Given the description of an element on the screen output the (x, y) to click on. 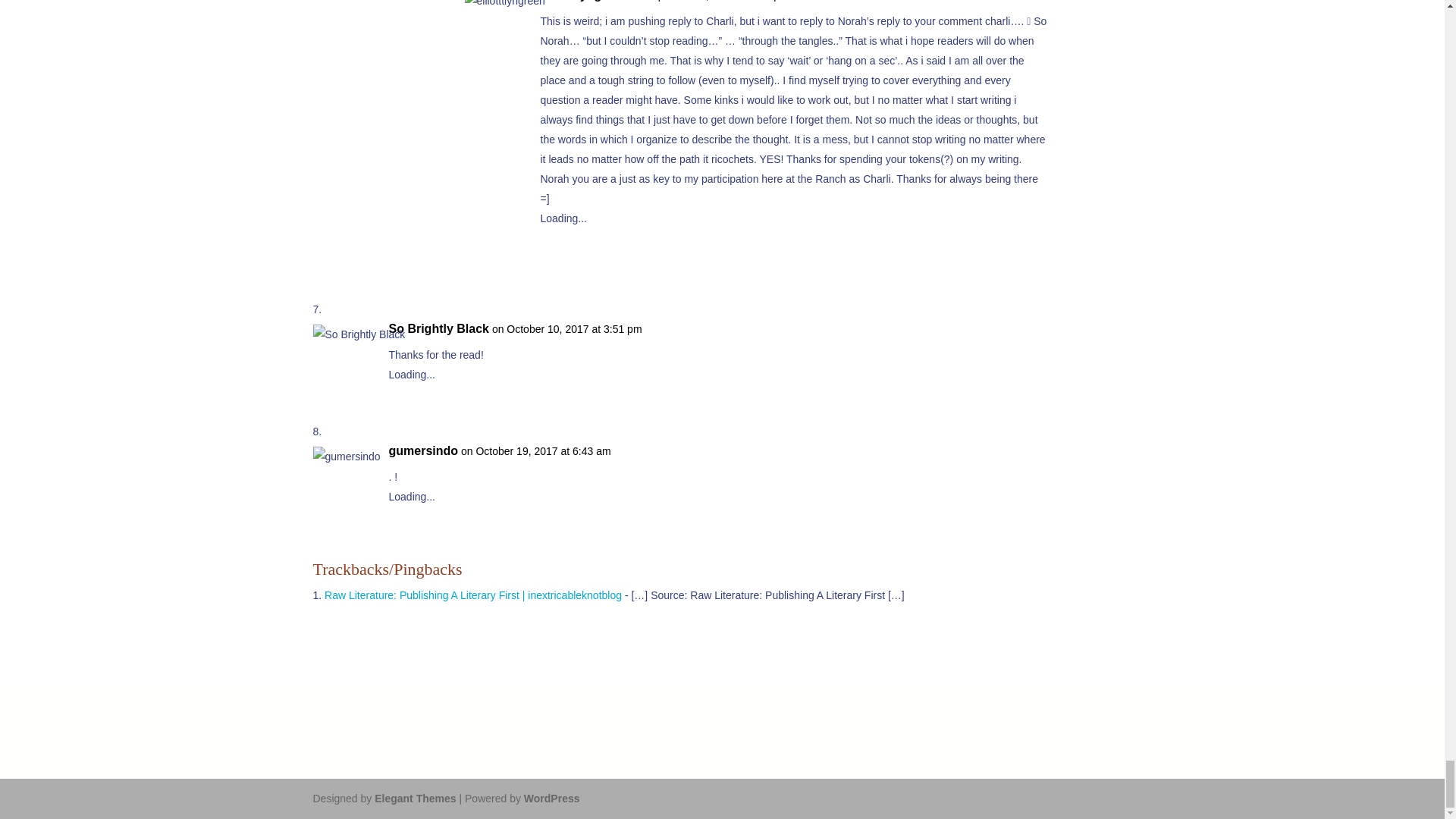
Premium WordPress Themes (414, 798)
